Given the description of an element on the screen output the (x, y) to click on. 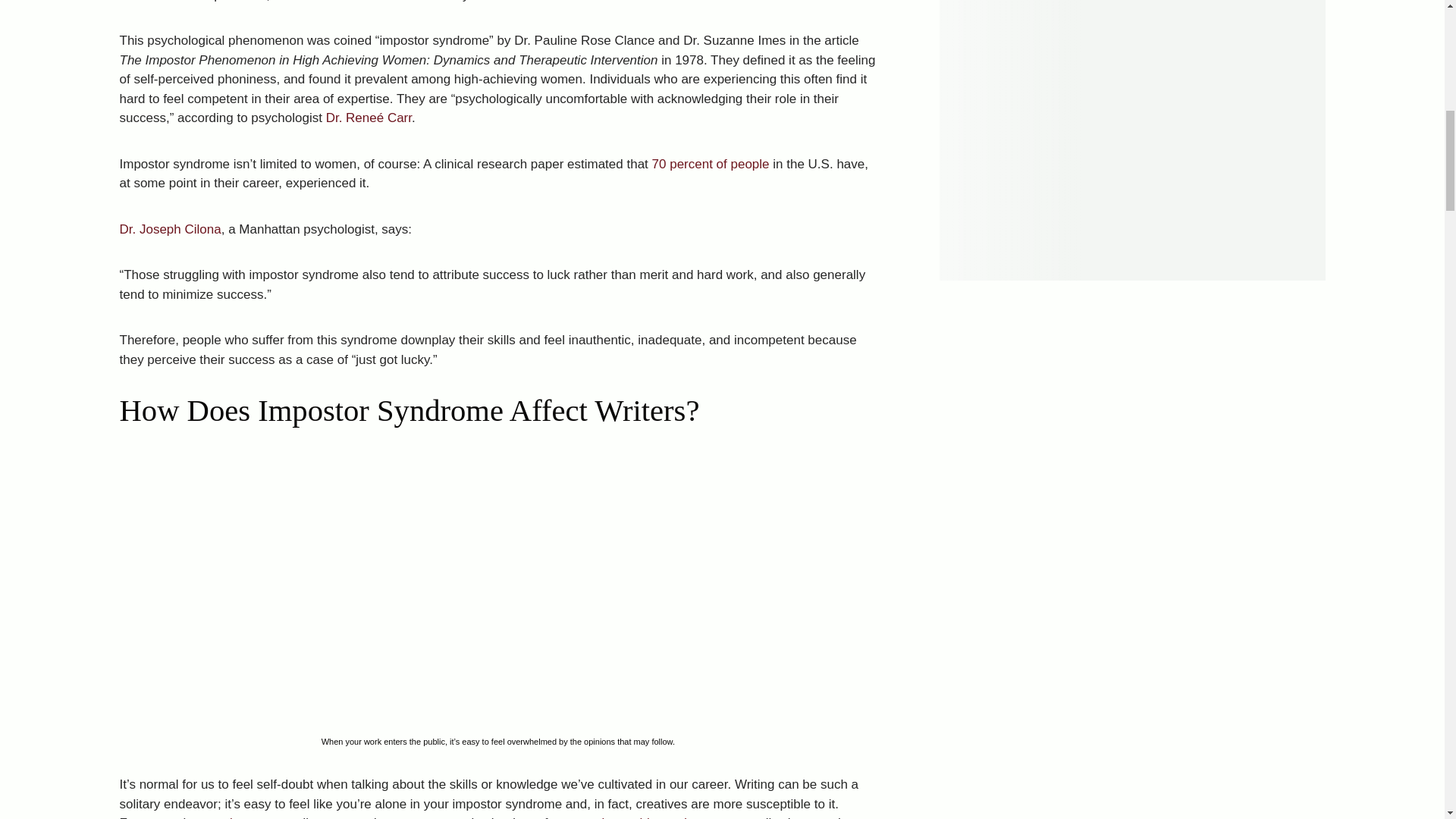
artists (231, 817)
70 percent of people (711, 164)
Dr. Joseph Cilona (170, 228)
experience this syndrome (642, 817)
